Given the description of an element on the screen output the (x, y) to click on. 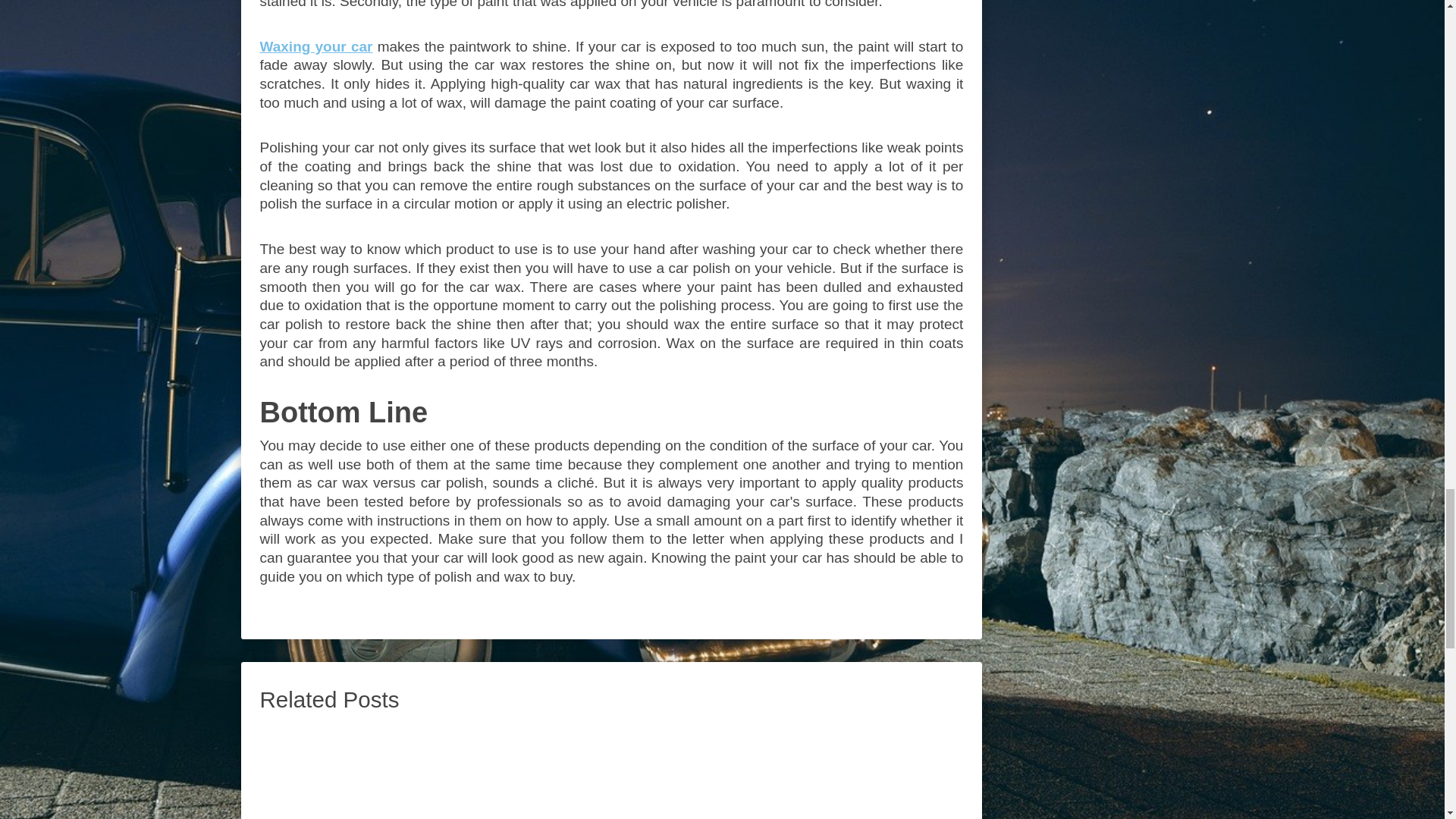
Increasing the Value of Your Car, Tips Anyone Can Follow (371, 772)
Several Benefits of Automobile Foiling for Your Car (611, 772)
How to Prepare for a Long-Haul Driving Trip (850, 772)
